Given the description of an element on the screen output the (x, y) to click on. 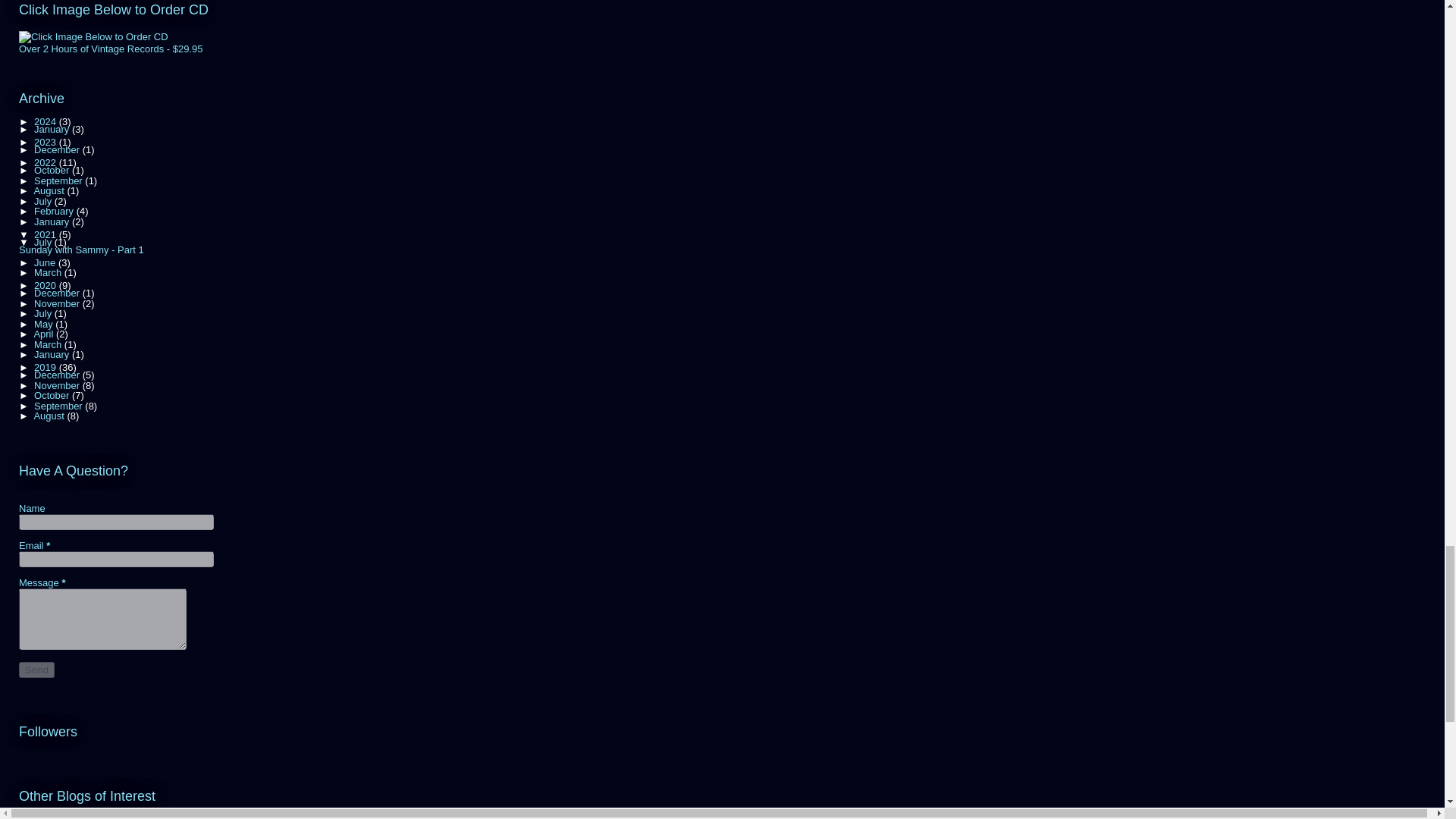
2024 (46, 121)
2023 (46, 142)
2022 (46, 162)
September (58, 180)
January (52, 129)
October (52, 170)
December (57, 149)
Send (36, 669)
